Given the description of an element on the screen output the (x, y) to click on. 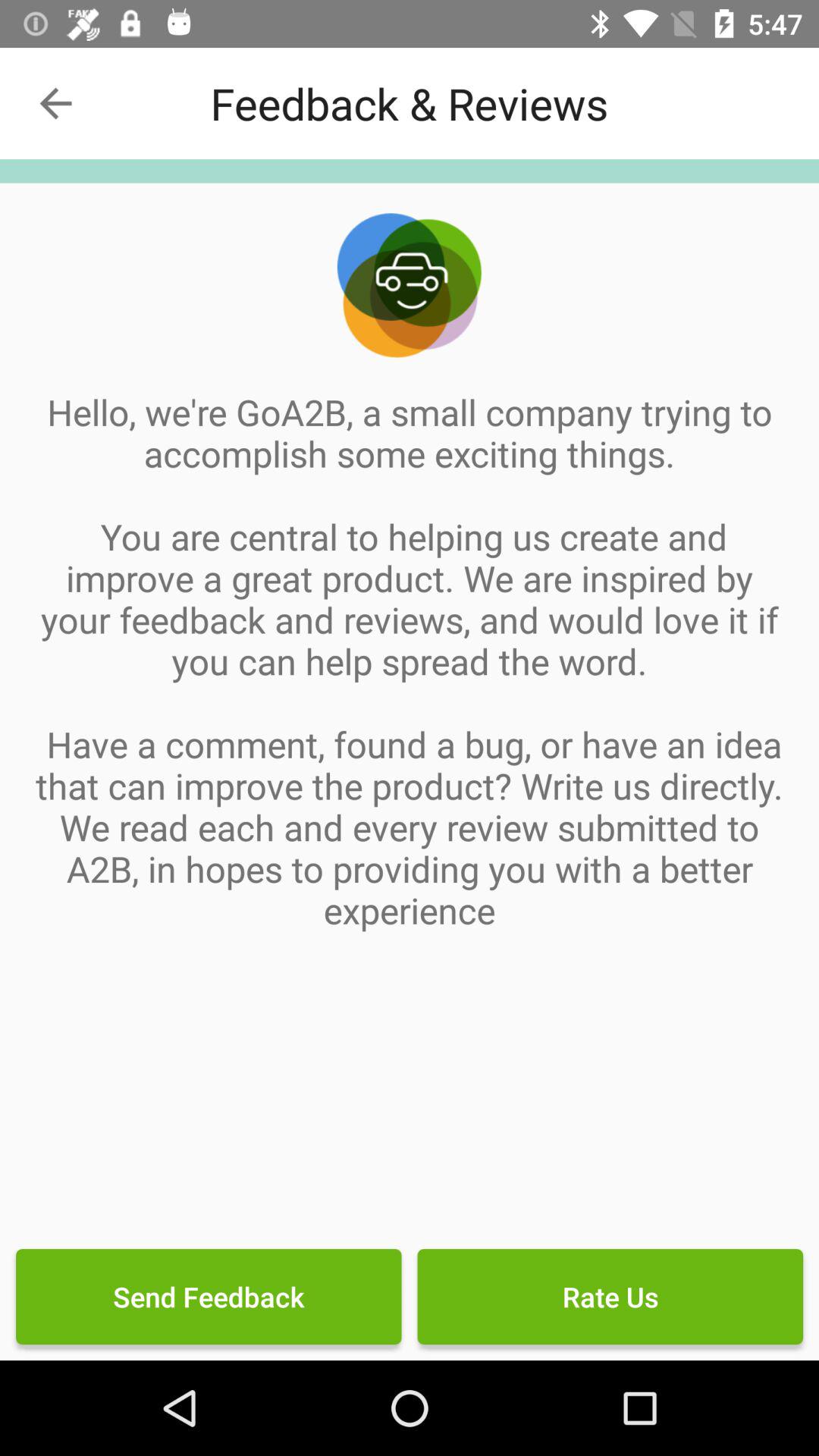
tap item below the hello we re item (208, 1296)
